Given the description of an element on the screen output the (x, y) to click on. 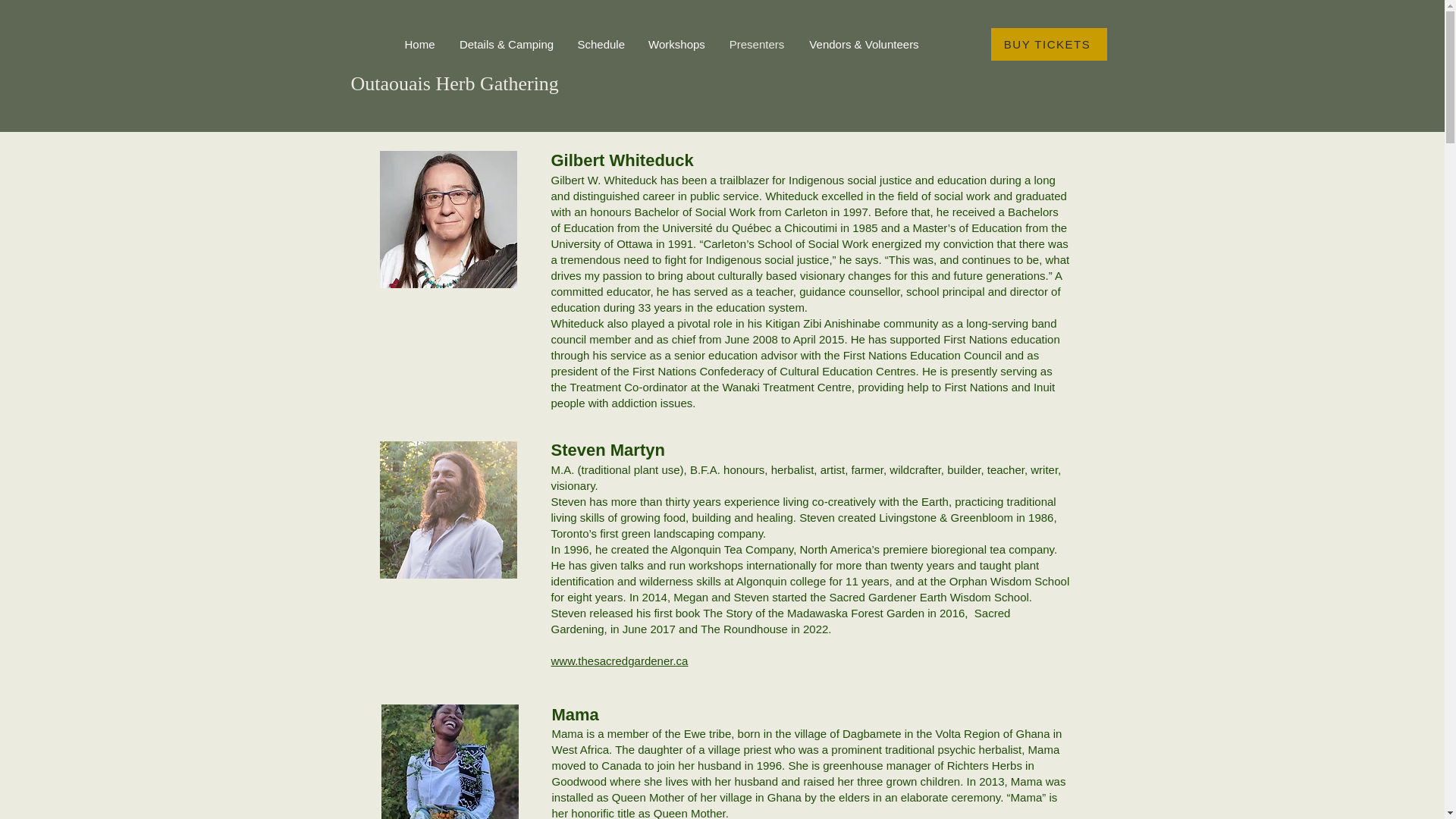
Johanne-Fontaine-Headshot.jpeg (447, 219)
ener.ca (668, 660)
BUY TICKETS (1048, 43)
steven standing wetland.png (447, 509)
Presenters (755, 43)
ard (642, 660)
Megan Headshot.png (449, 761)
Schedule (600, 43)
Home (419, 43)
Workshops (675, 43)
